Given the description of an element on the screen output the (x, y) to click on. 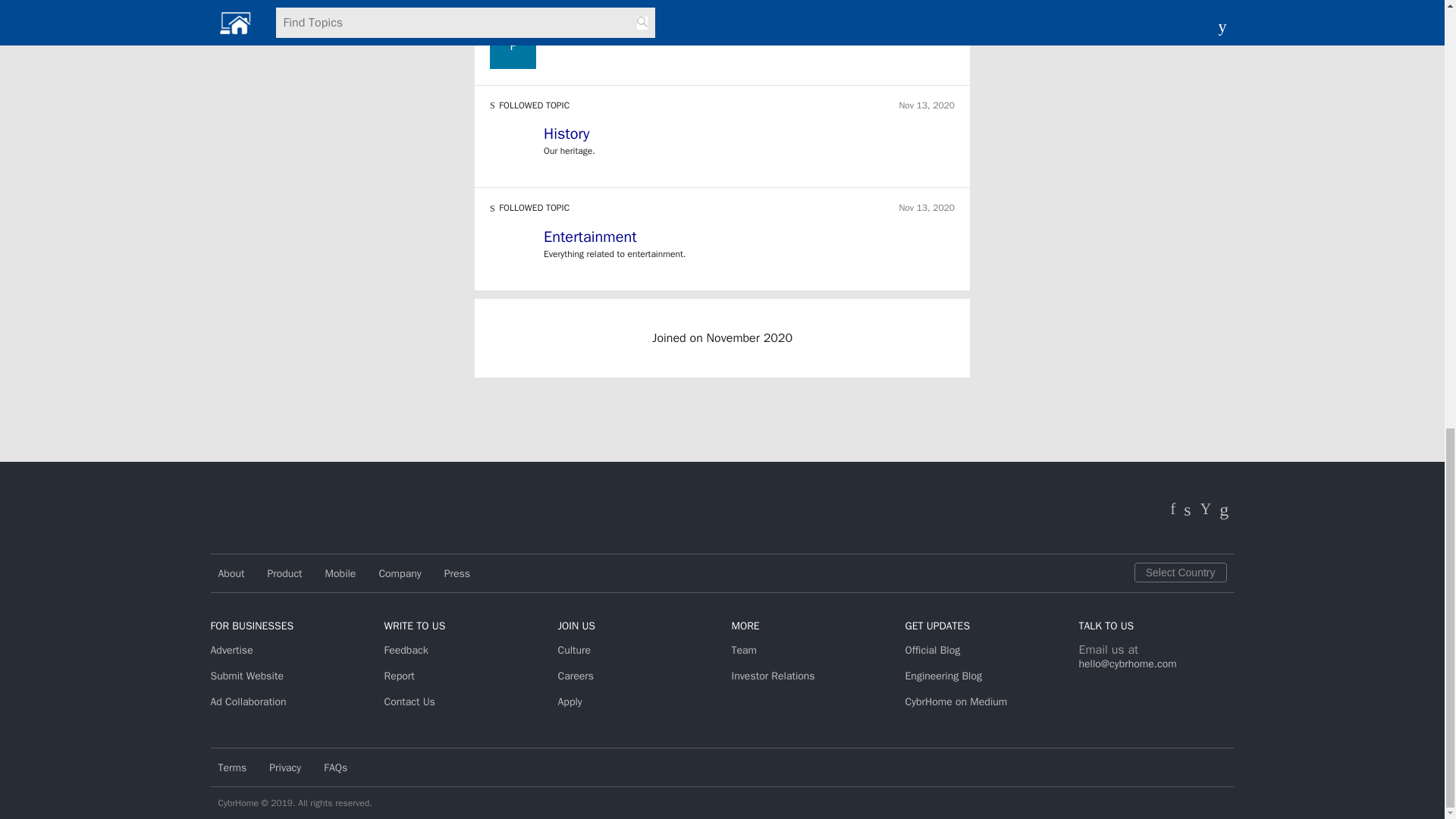
F (512, 45)
Entertainment (590, 236)
Entertainment (749, 239)
History (566, 133)
History (749, 136)
